Given the description of an element on the screen output the (x, y) to click on. 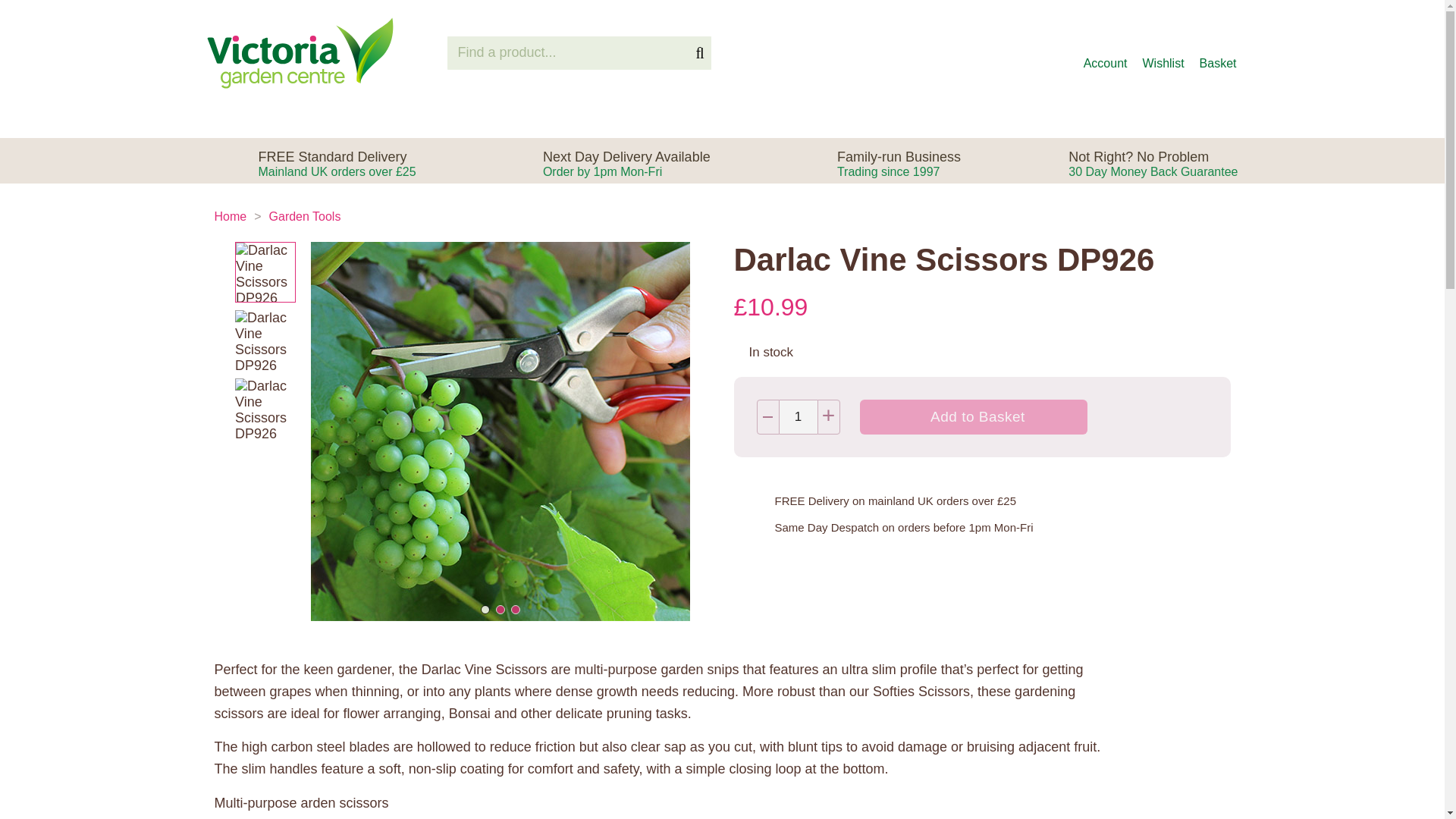
Account (1104, 53)
Giftware (951, 118)
Homeware (844, 118)
Add to Basket (973, 416)
Outdoor Living (626, 164)
Garden Tools (717, 118)
Garden Tools (304, 215)
Brands (417, 118)
Home (1047, 118)
1 (230, 215)
Basket (797, 416)
Wishlist (1219, 53)
